Given the description of an element on the screen output the (x, y) to click on. 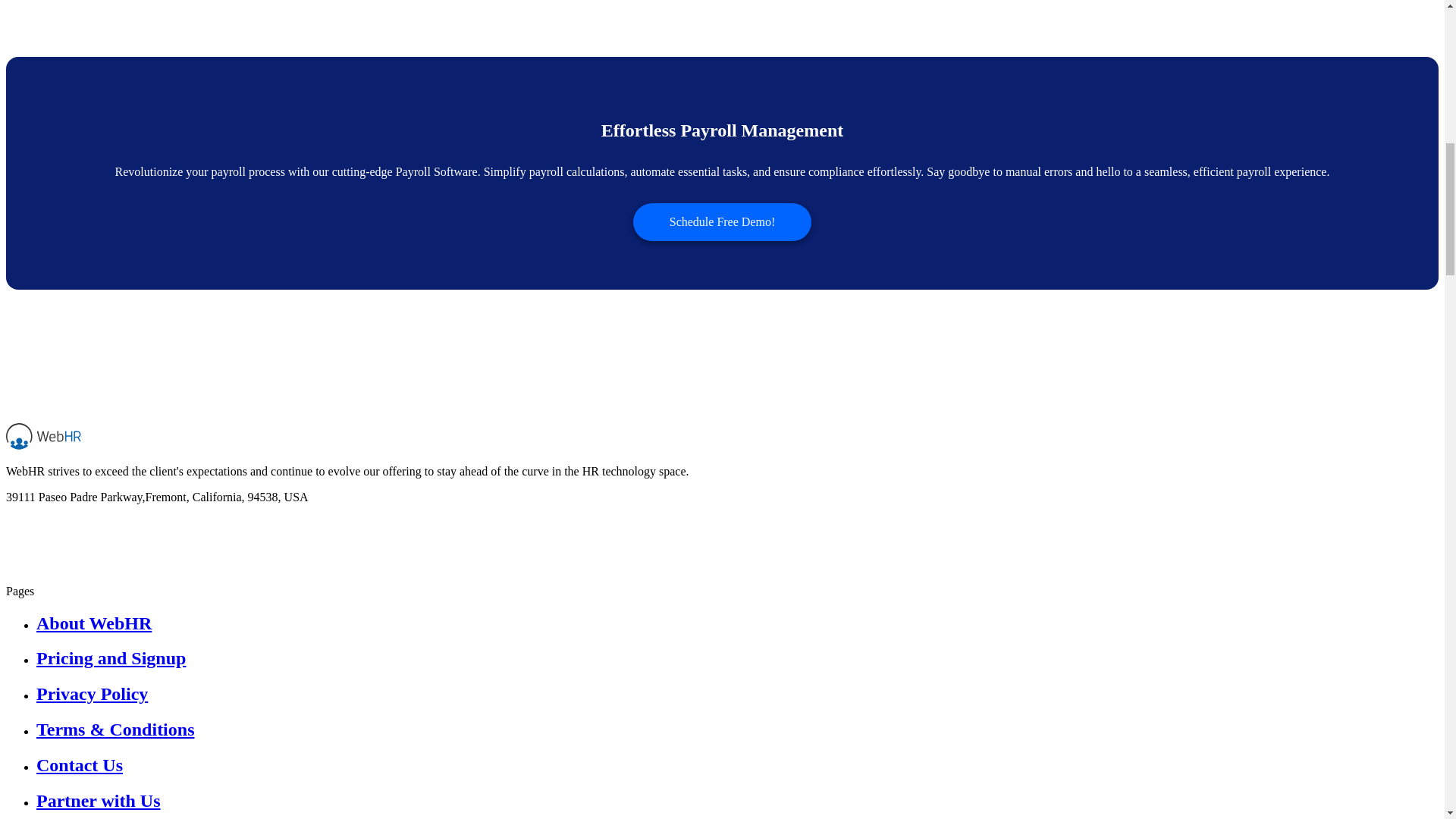
Schedule Free Demo! (722, 221)
